Given the description of an element on the screen output the (x, y) to click on. 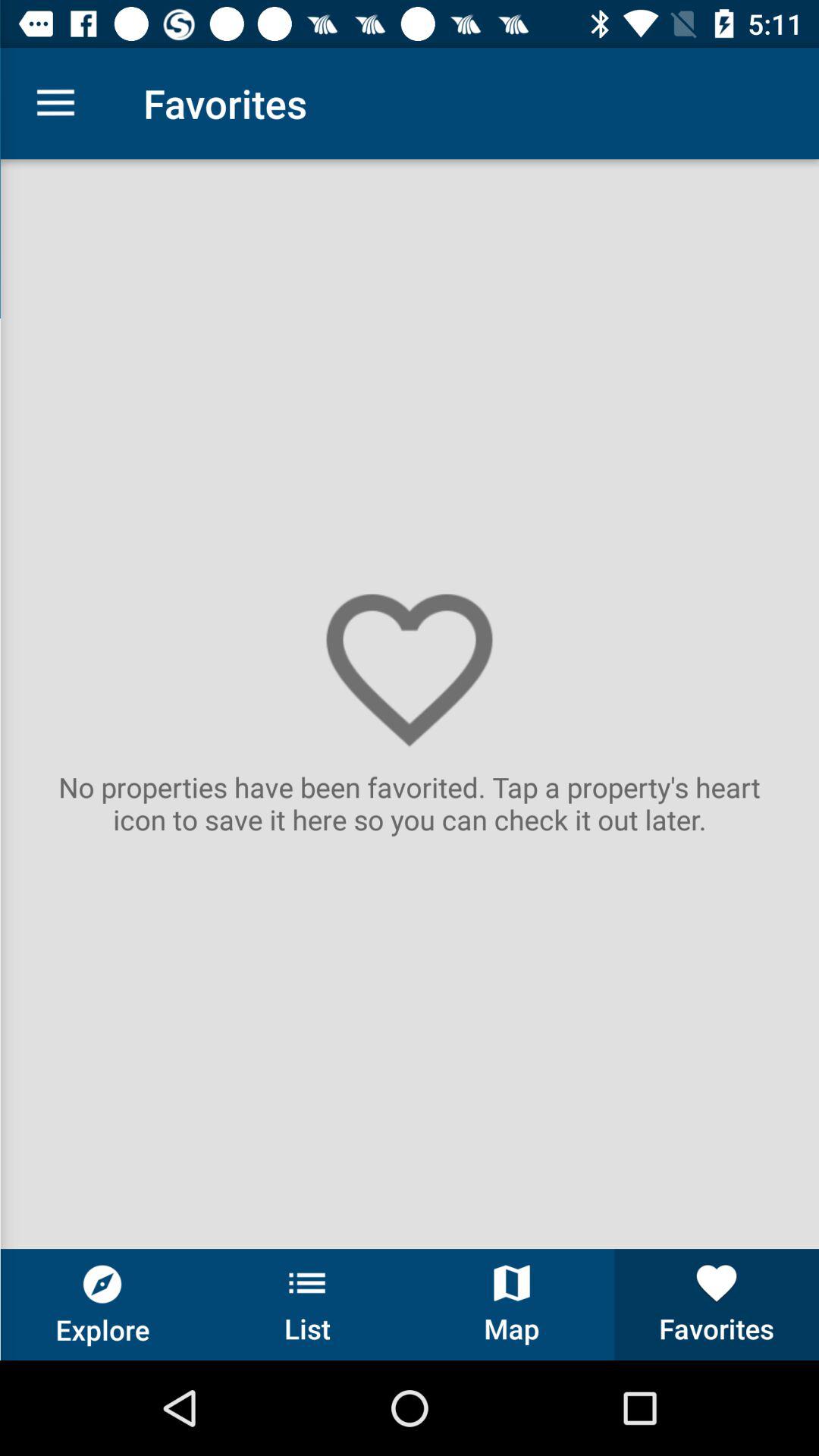
click map button (511, 1304)
